Given the description of an element on the screen output the (x, y) to click on. 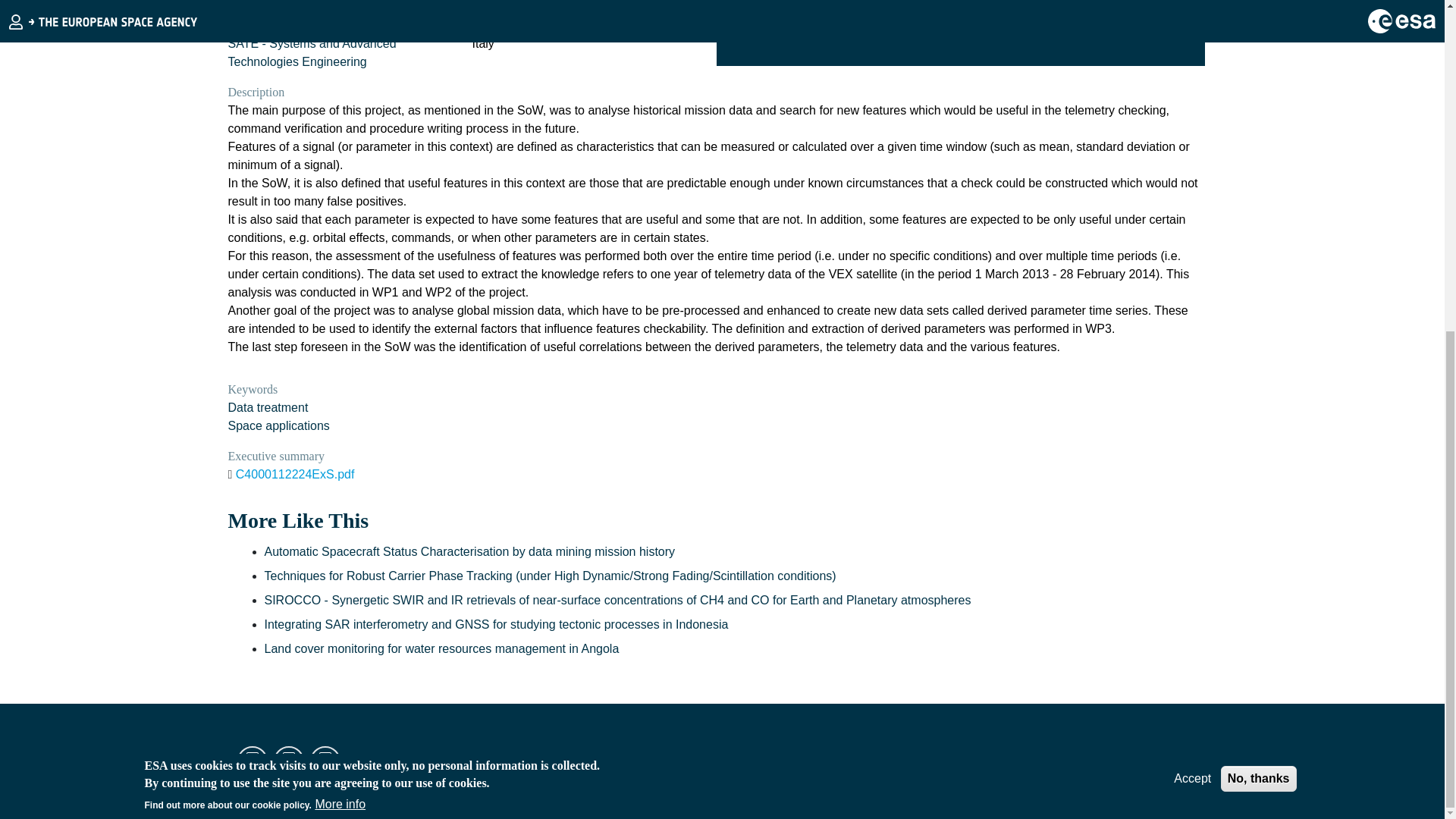
Privacy Notice (1077, 760)
Accept (1192, 228)
NEBULA (324, 767)
More info (339, 253)
GSTP (289, 767)
SATE - Systems and Advanced Technologies Engineering (311, 51)
TDE (252, 767)
Send Mail (324, 767)
Privacy Notice (1077, 760)
